Given the description of an element on the screen output the (x, y) to click on. 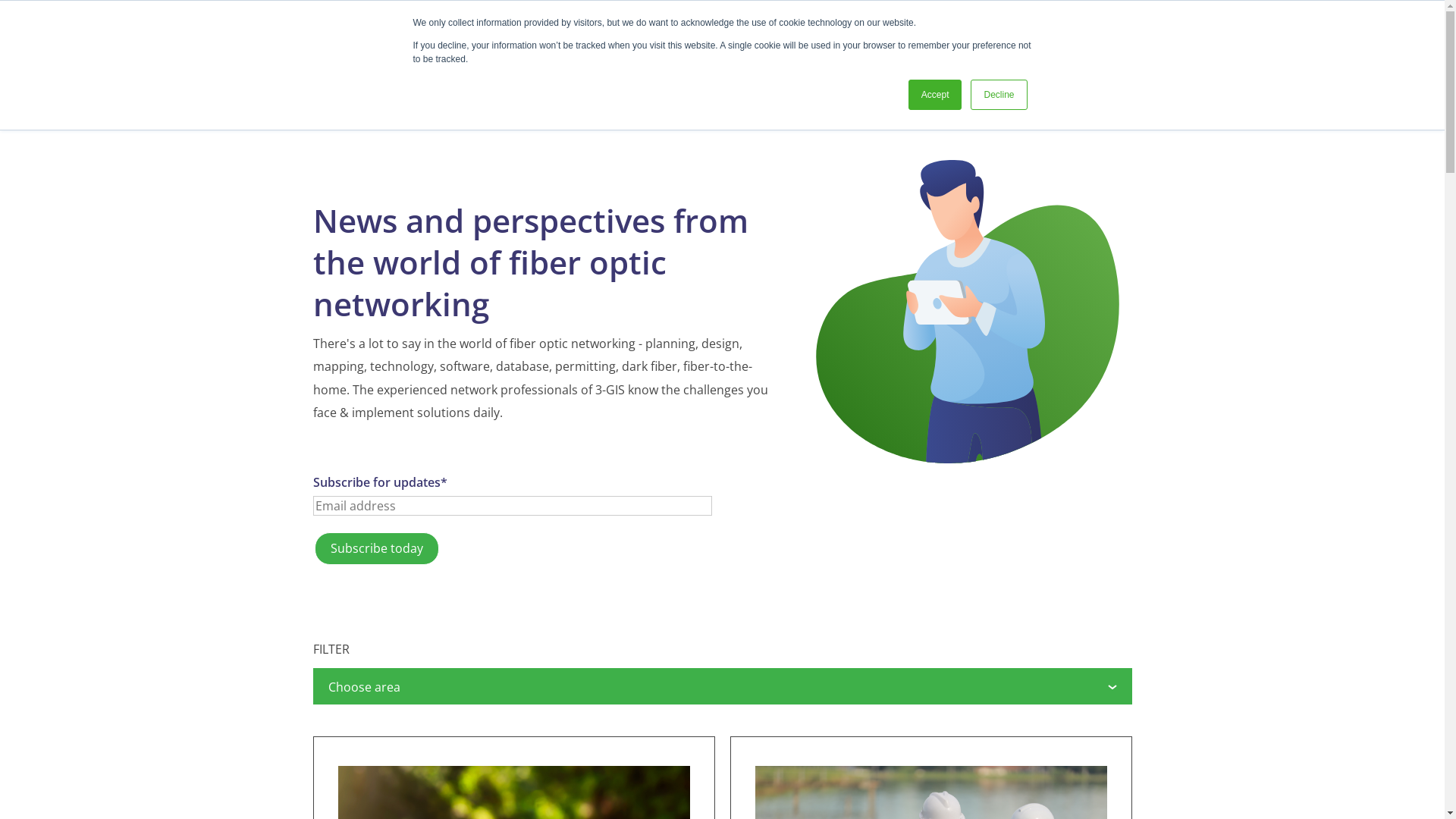
Decline Element type: text (998, 94)
ABOUT US Element type: text (1005, 46)
PUT IT ALL TOGETHER Element type: text (640, 46)
SOFTWARE & SERVICES Element type: text (751, 46)
CONTACT Element type: text (1080, 46)
logo-landscape Element type: hover (376, 51)
SUPPORT Element type: text (851, 46)
Accept Element type: text (935, 94)
Subscribe today Element type: text (375, 548)
CONTENT HUB Element type: text (919, 46)
